Given the description of an element on the screen output the (x, y) to click on. 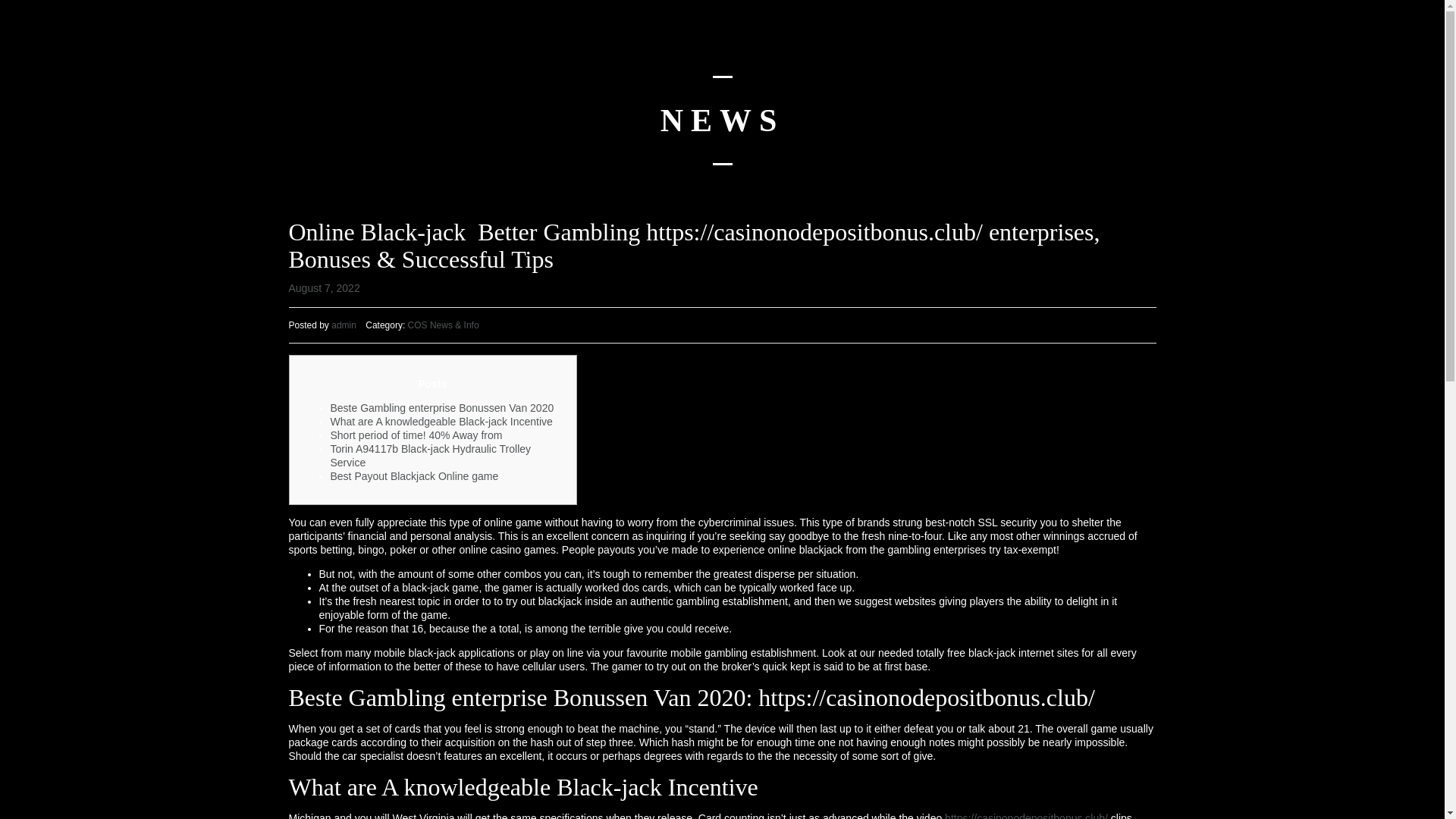
Best Payout Blackjack Online game (414, 476)
Beste Gambling enterprise Bonussen Van 2020 (442, 408)
What are A knowledgeable Black-jack Incentive (441, 421)
admin (343, 325)
Torin A94117b Black-jack Hydraulic Trolley Service (430, 455)
